Given the description of an element on the screen output the (x, y) to click on. 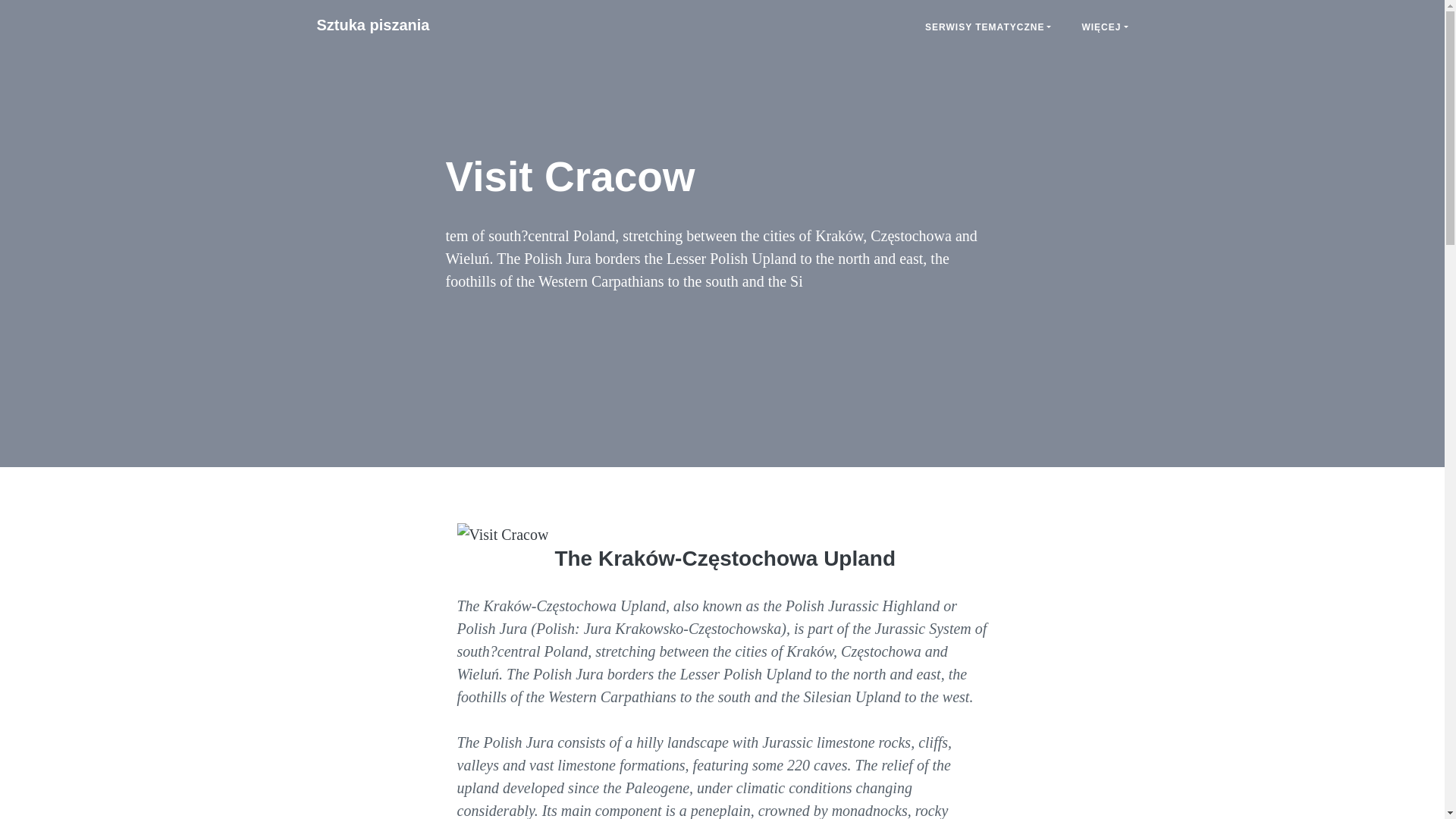
Visit Cracow (373, 24)
SERWISY TEMATYCZNE (987, 27)
Sztuka piszania (373, 24)
